Given the description of an element on the screen output the (x, y) to click on. 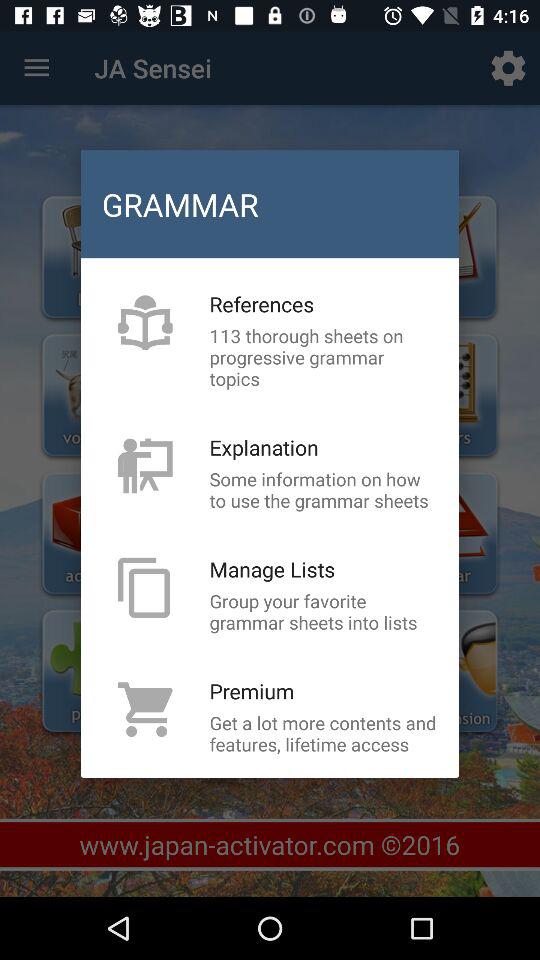
swipe until group your favorite item (323, 611)
